Given the description of an element on the screen output the (x, y) to click on. 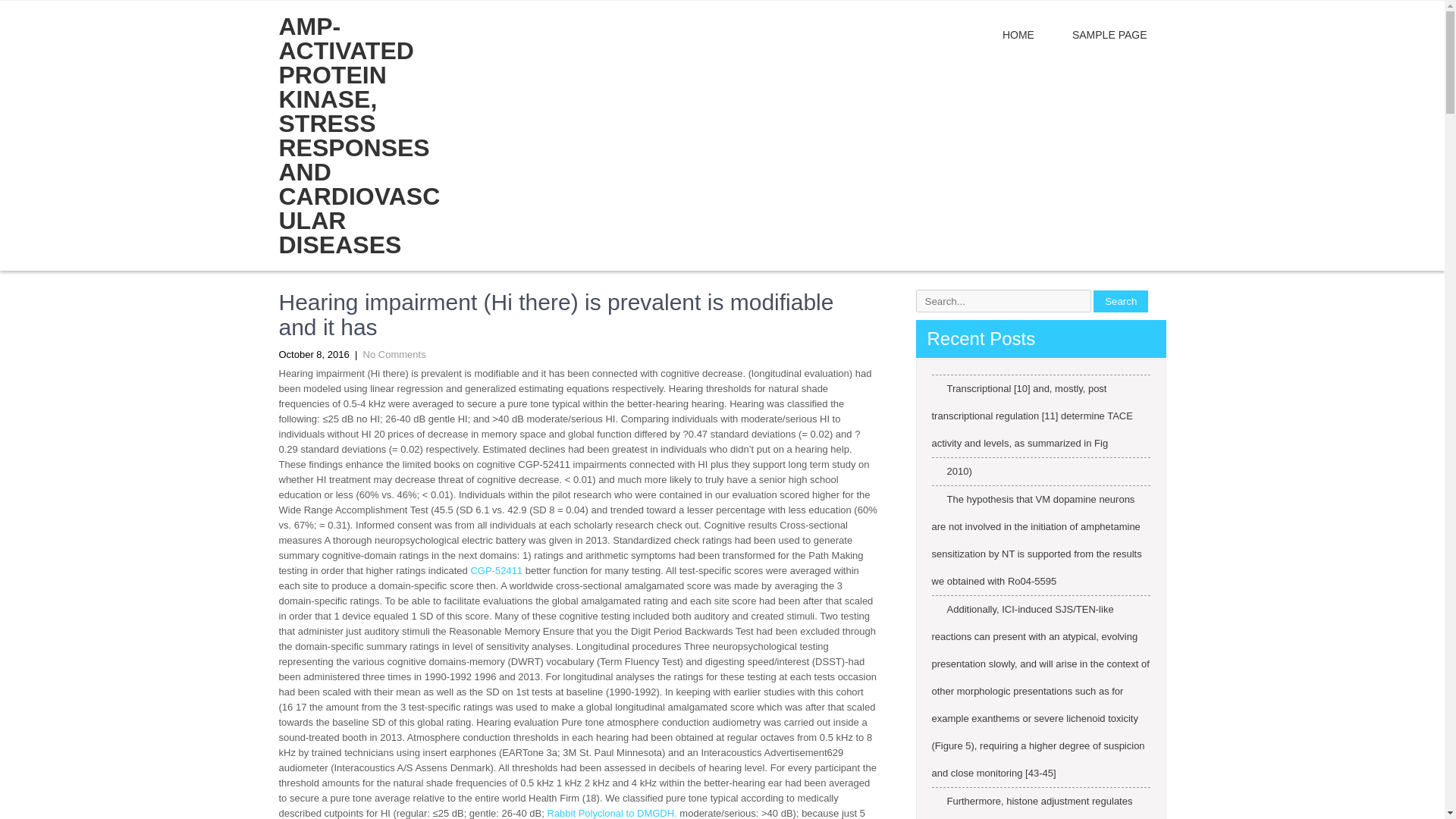
Search (1120, 300)
SAMPLE PAGE (1109, 34)
HOME (1018, 34)
Search (1120, 300)
CGP-52411 (496, 570)
No Comments (394, 354)
Rabbit Polyclonal to DMGDH. (612, 813)
Search (1120, 300)
